Given the description of an element on the screen output the (x, y) to click on. 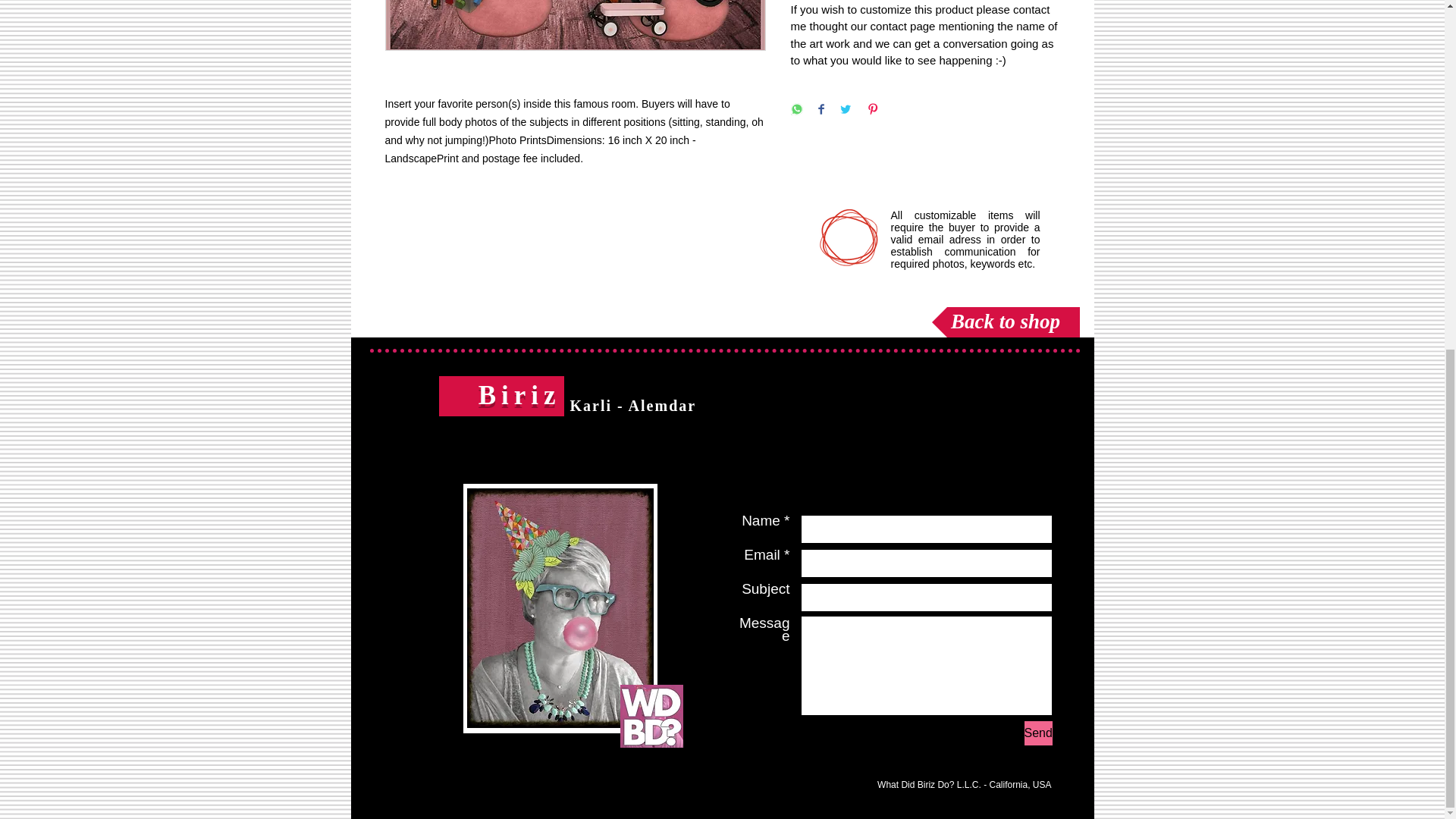
Send (1037, 733)
Back to shop (1004, 322)
